Given the description of an element on the screen output the (x, y) to click on. 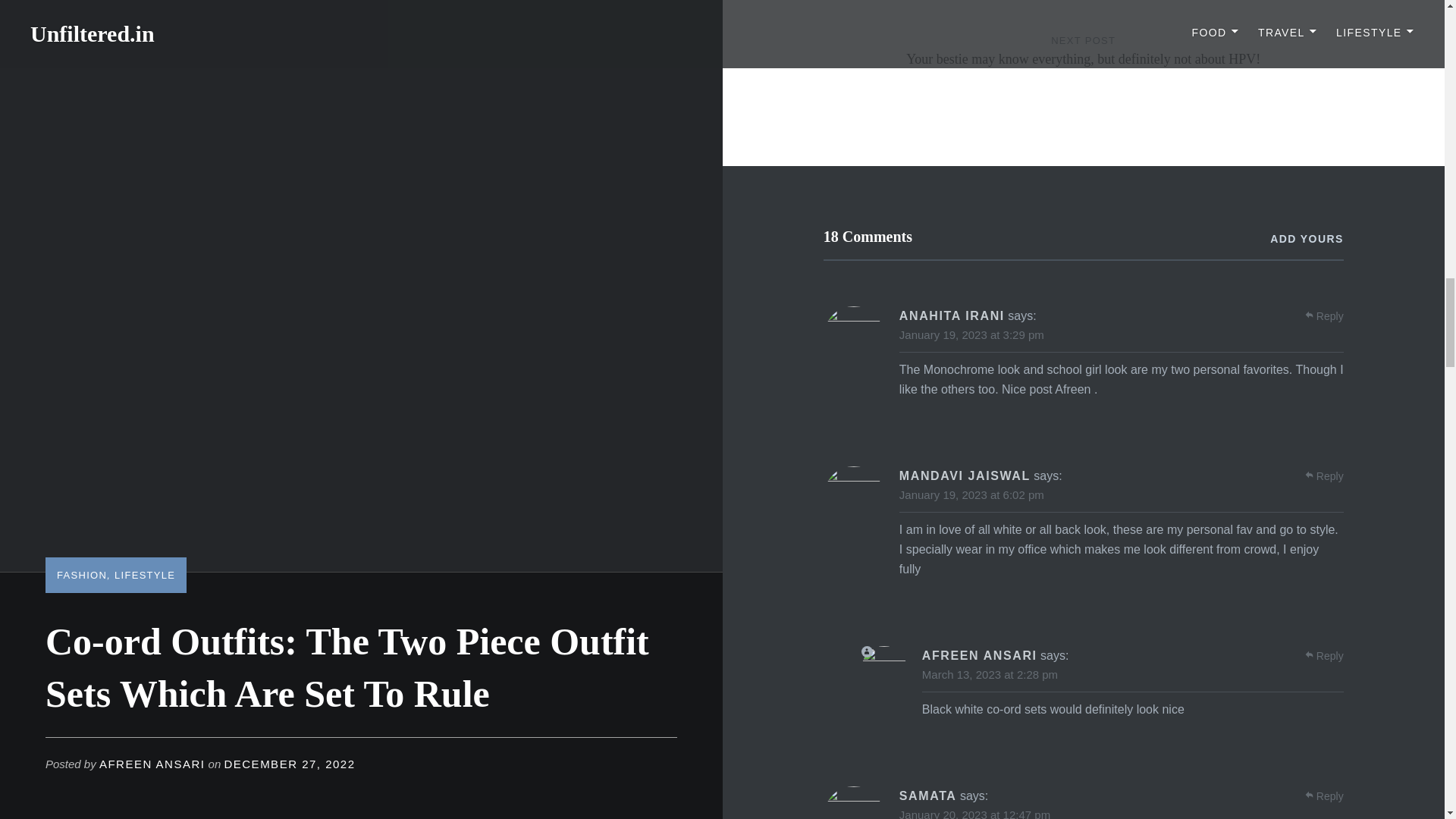
ADD YOURS (1305, 238)
ANAHITA IRANI (951, 315)
January 19, 2023 at 3:29 pm (971, 334)
